Given the description of an element on the screen output the (x, y) to click on. 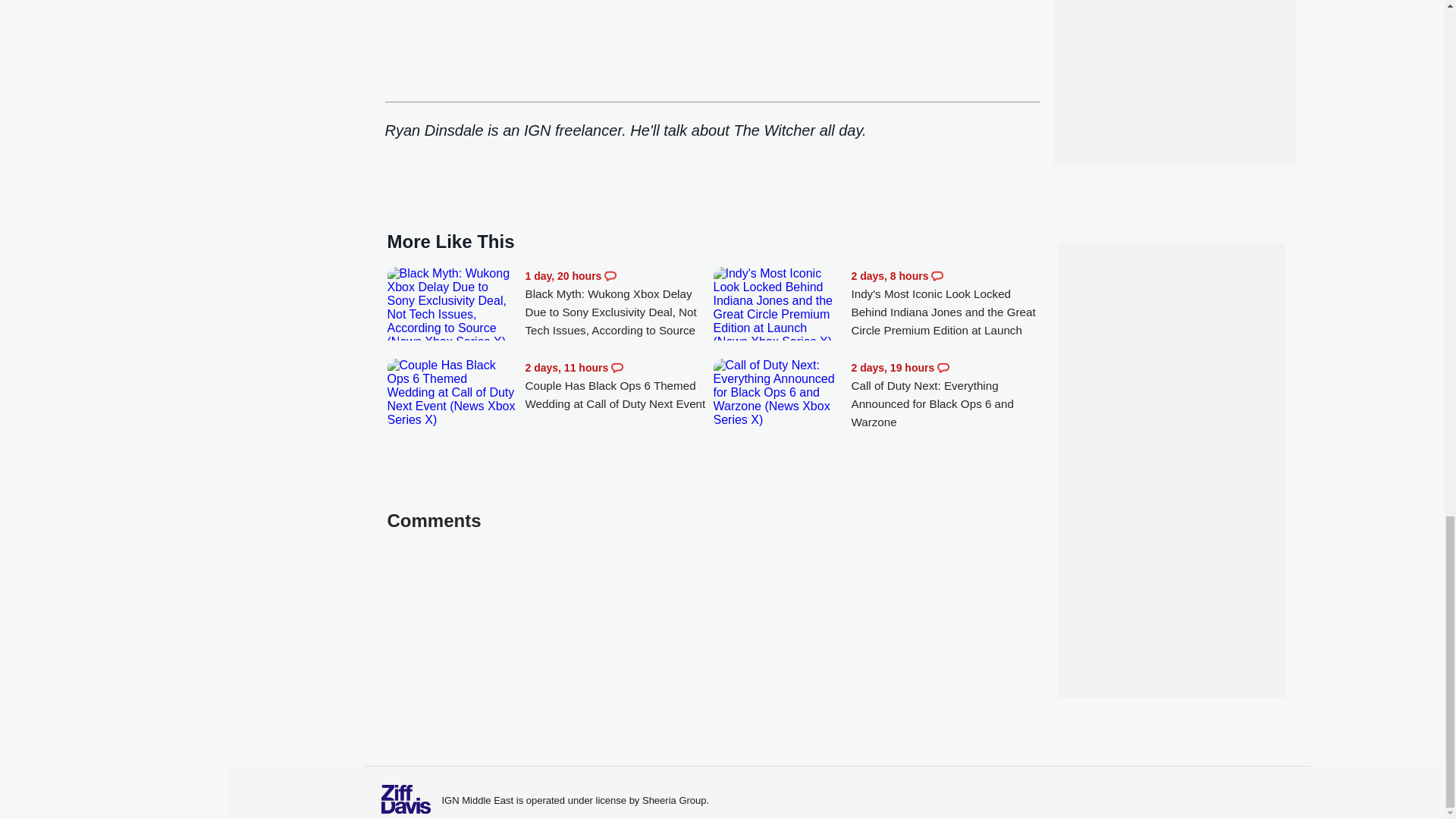
Comments (937, 275)
Comments (943, 367)
Comments (609, 275)
